Given the description of an element on the screen output the (x, y) to click on. 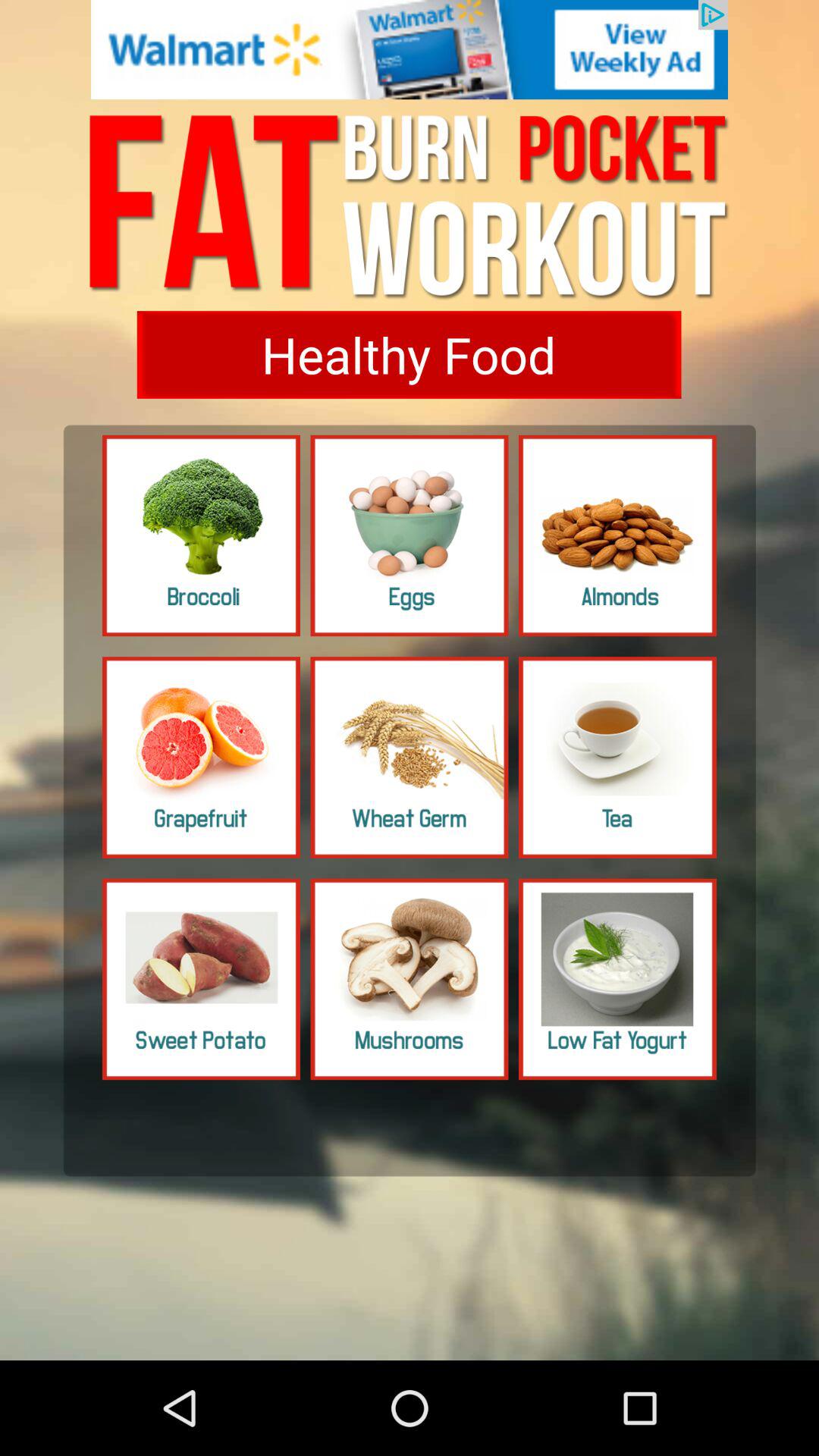
select image (617, 757)
